Given the description of an element on the screen output the (x, y) to click on. 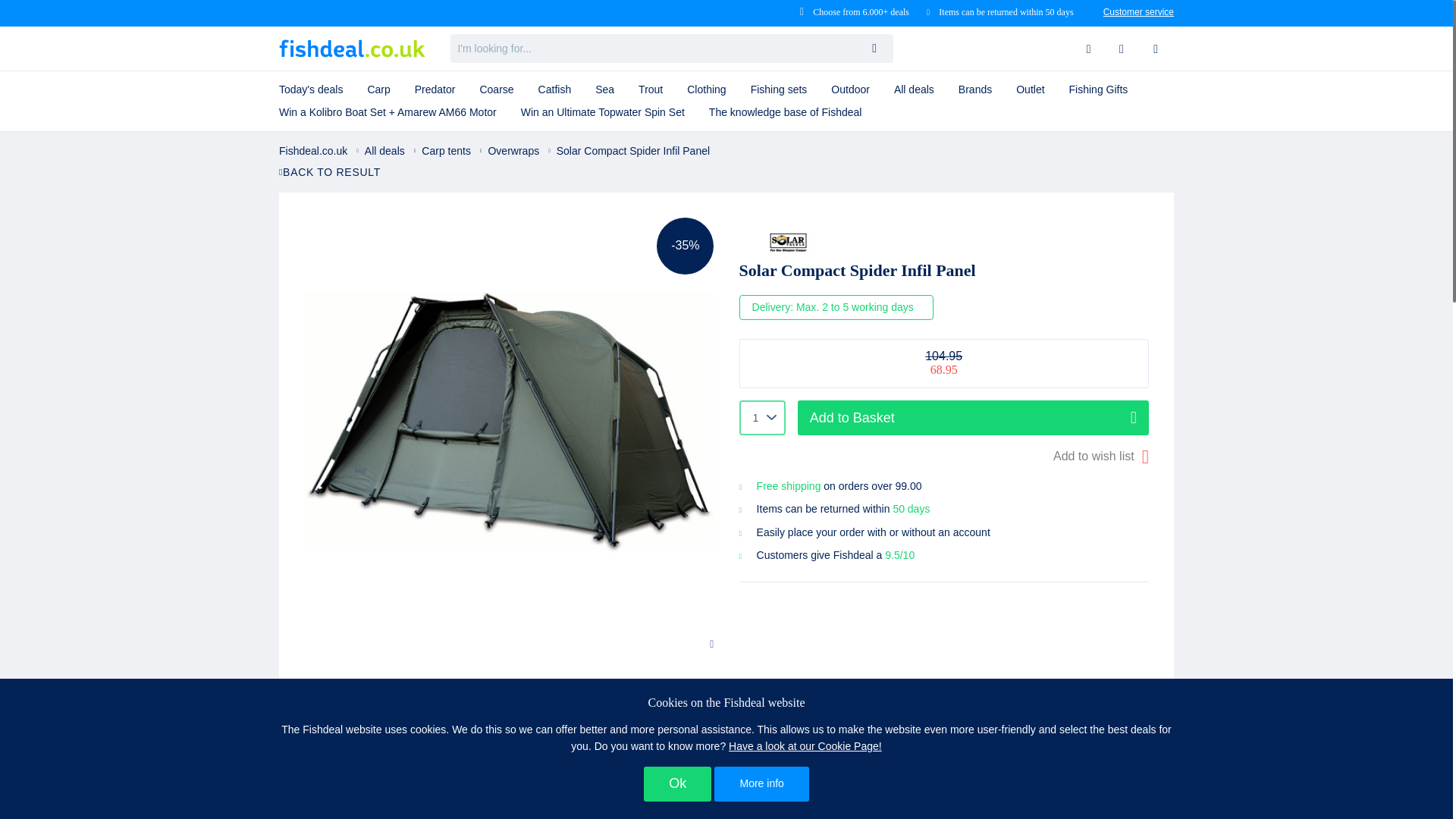
Fishing sets (778, 88)
Customer service (1138, 11)
Predator (435, 88)
Trout (650, 88)
Outlet (1030, 88)
Carp (378, 88)
Brands (975, 88)
Catfish (554, 88)
Sea (604, 88)
Coarse (496, 88)
